Given the description of an element on the screen output the (x, y) to click on. 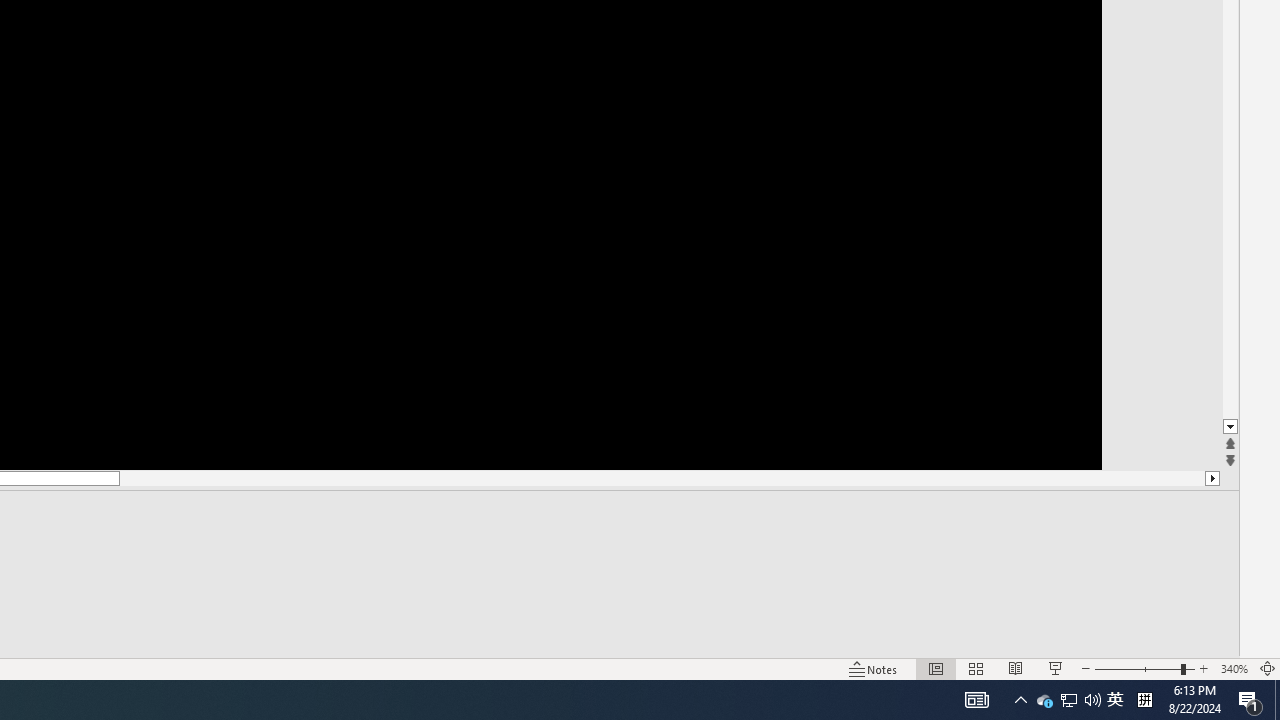
Zoom 340% (1234, 668)
